Given the description of an element on the screen output the (x, y) to click on. 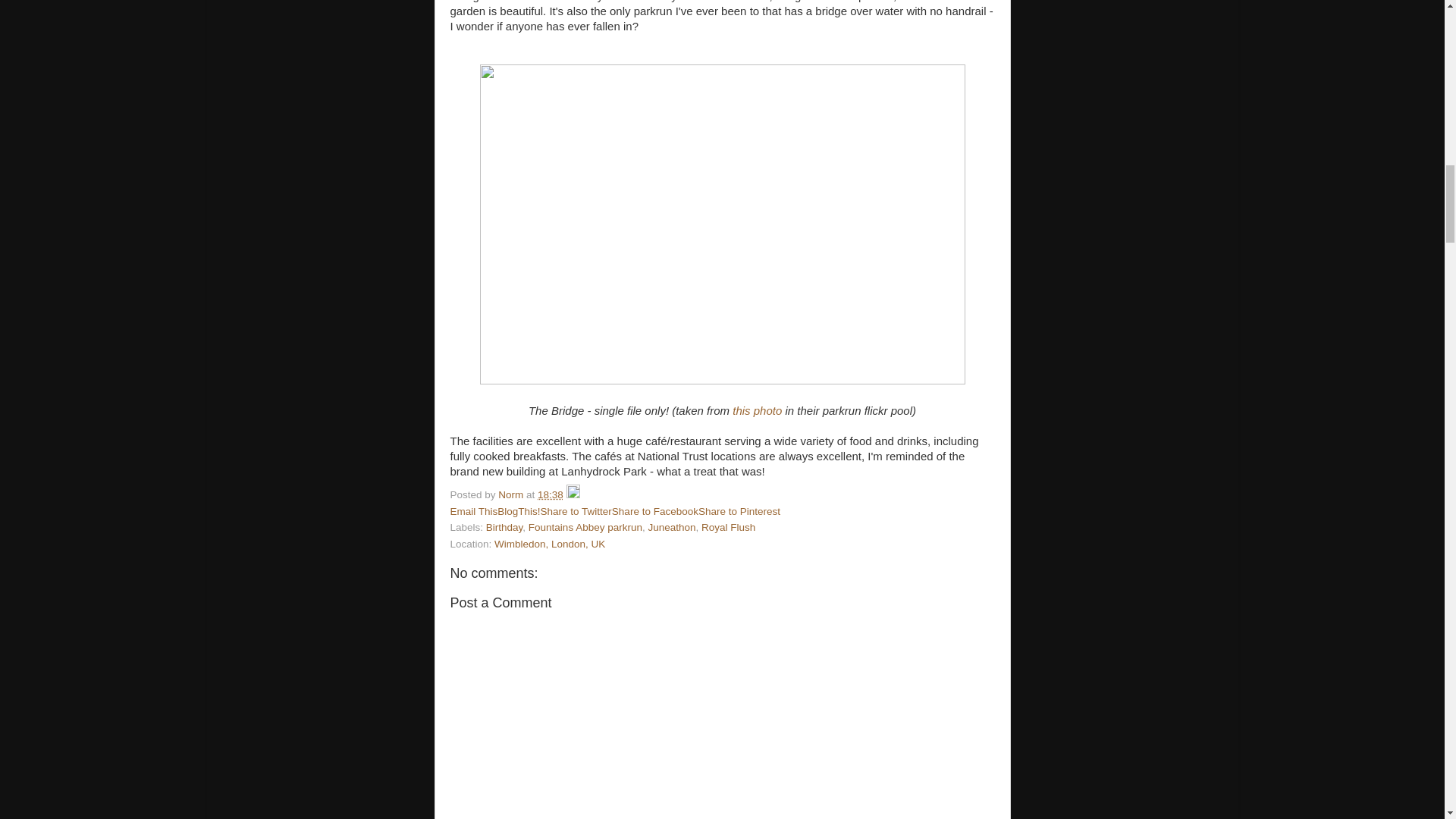
Email This (473, 511)
Share to Facebook (654, 511)
this photo (756, 410)
Royal Flush (728, 527)
Share to Twitter (575, 511)
Wimbledon, London, UK (550, 543)
Edit Post (572, 494)
permanent link (550, 494)
Birthday (504, 527)
Share to Twitter (575, 511)
author profile (511, 494)
BlogThis! (518, 511)
Juneathon (671, 527)
Share to Pinterest (739, 511)
18:38 (550, 494)
